Given the description of an element on the screen output the (x, y) to click on. 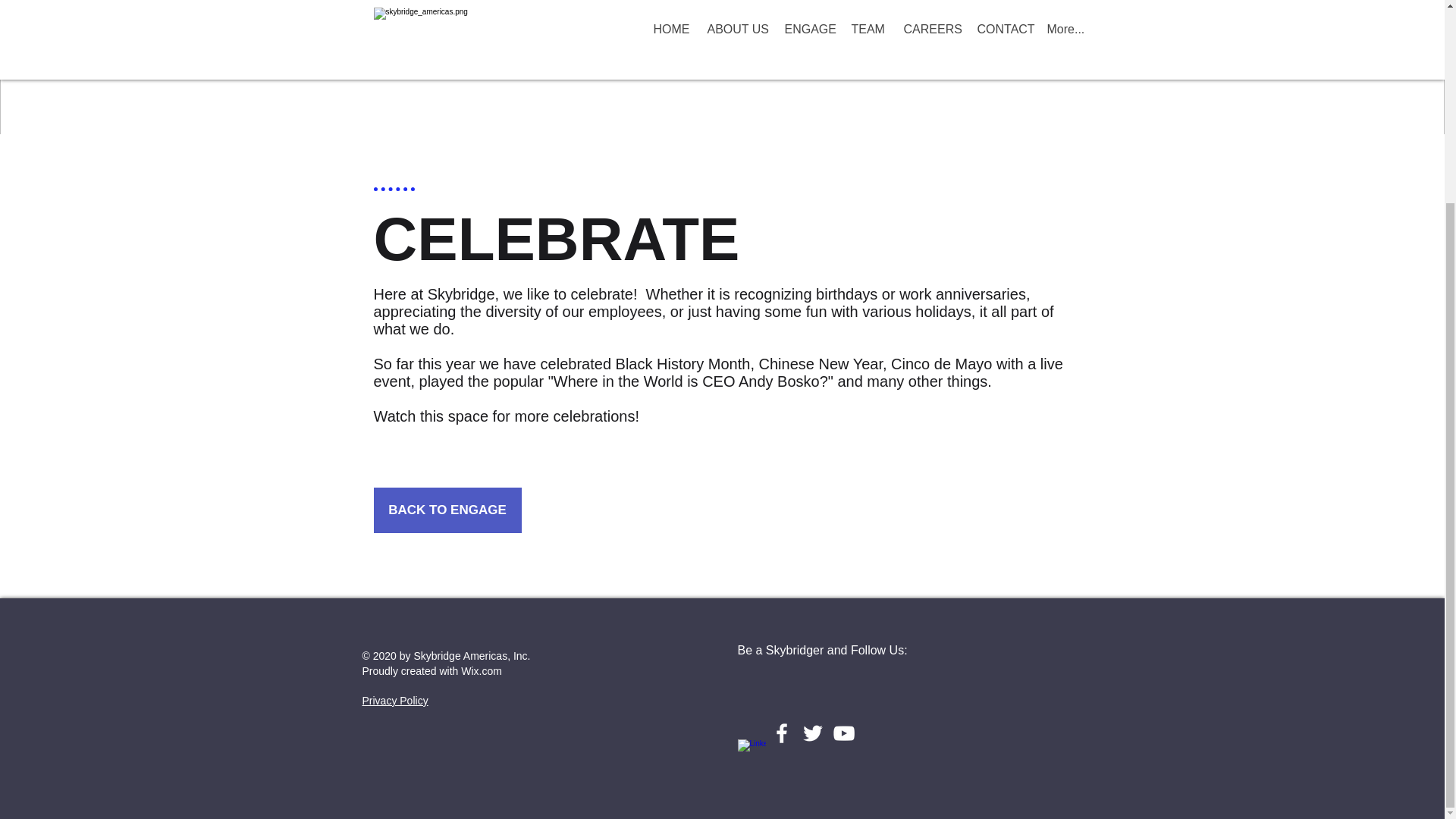
Wix.com (481, 671)
BACK TO ENGAGE (446, 510)
Privacy Policy (395, 700)
